Given the description of an element on the screen output the (x, y) to click on. 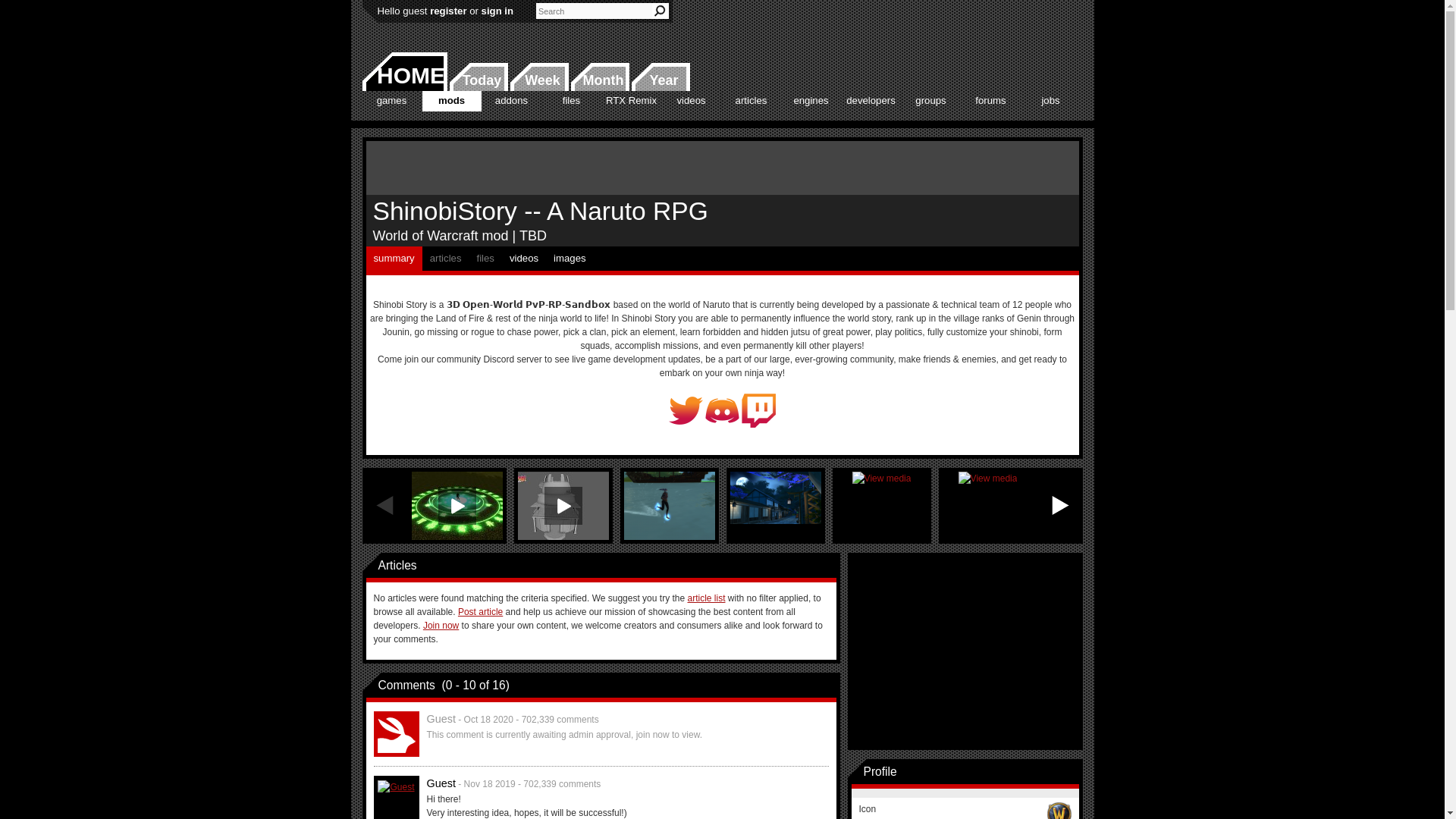
addons (511, 100)
New this year (660, 76)
Year (660, 76)
mods (451, 100)
RTX Remix (631, 100)
sign in (497, 10)
register (447, 10)
games (392, 100)
videos (690, 100)
Search ModDB (660, 10)
